Given the description of an element on the screen output the (x, y) to click on. 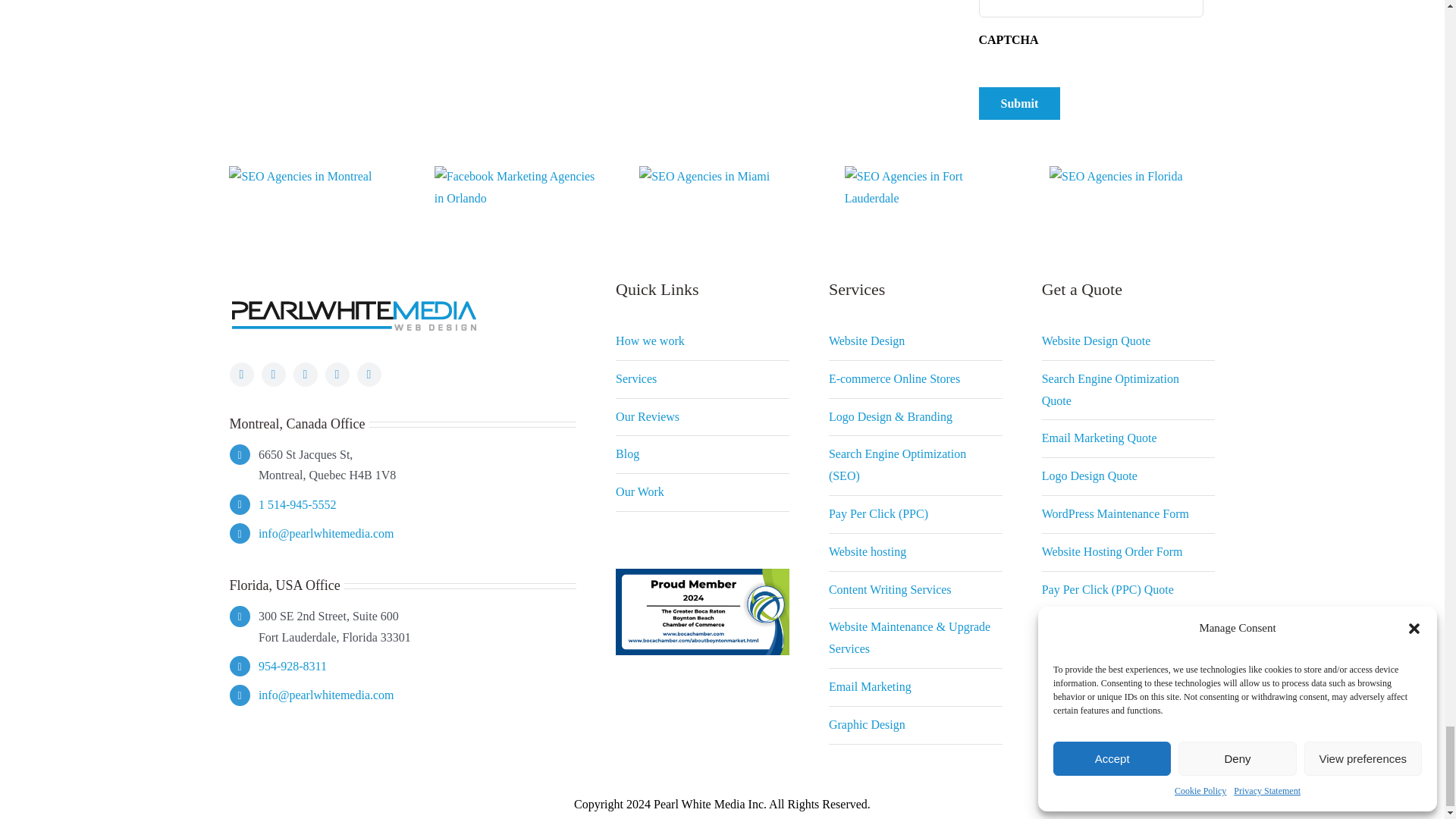
Submit (1018, 102)
